Given the description of an element on the screen output the (x, y) to click on. 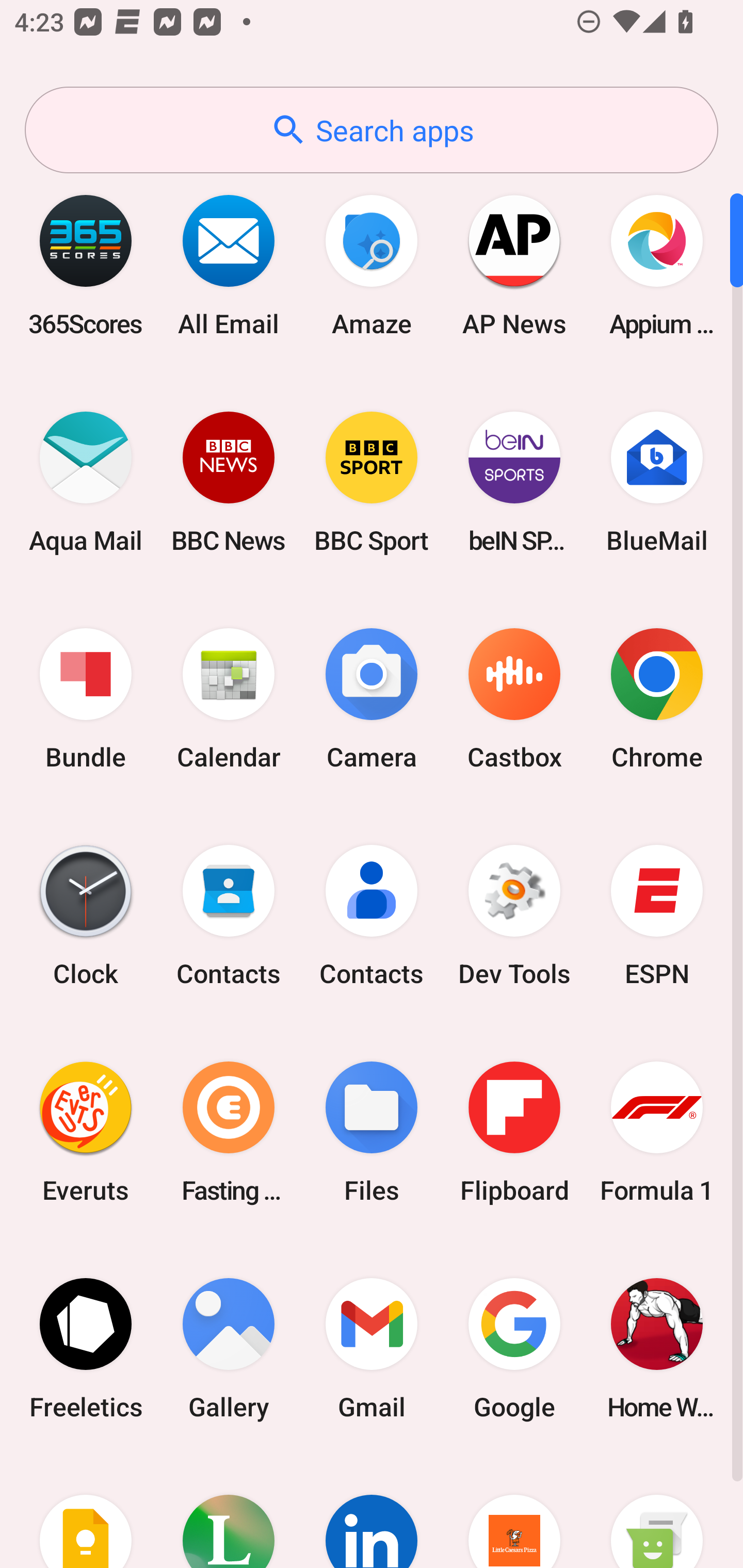
  Search apps (371, 130)
365Scores (85, 264)
All Email (228, 264)
Amaze (371, 264)
AP News (514, 264)
Appium Settings (656, 264)
Aqua Mail (85, 482)
BBC News (228, 482)
BBC Sport (371, 482)
beIN SPORTS (514, 482)
BlueMail (656, 482)
Bundle (85, 699)
Calendar (228, 699)
Camera (371, 699)
Castbox (514, 699)
Chrome (656, 699)
Clock (85, 915)
Contacts (228, 915)
Contacts (371, 915)
Dev Tools (514, 915)
ESPN (656, 915)
Everuts (85, 1131)
Fasting Coach (228, 1131)
Files (371, 1131)
Flipboard (514, 1131)
Formula 1 (656, 1131)
Freeletics (85, 1348)
Gallery (228, 1348)
Gmail (371, 1348)
Google (514, 1348)
Home Workout (656, 1348)
Keep Notes (85, 1512)
Lifesum (228, 1512)
LinkedIn (371, 1512)
Little Caesars Pizza (514, 1512)
Messaging (656, 1512)
